Given the description of an element on the screen output the (x, y) to click on. 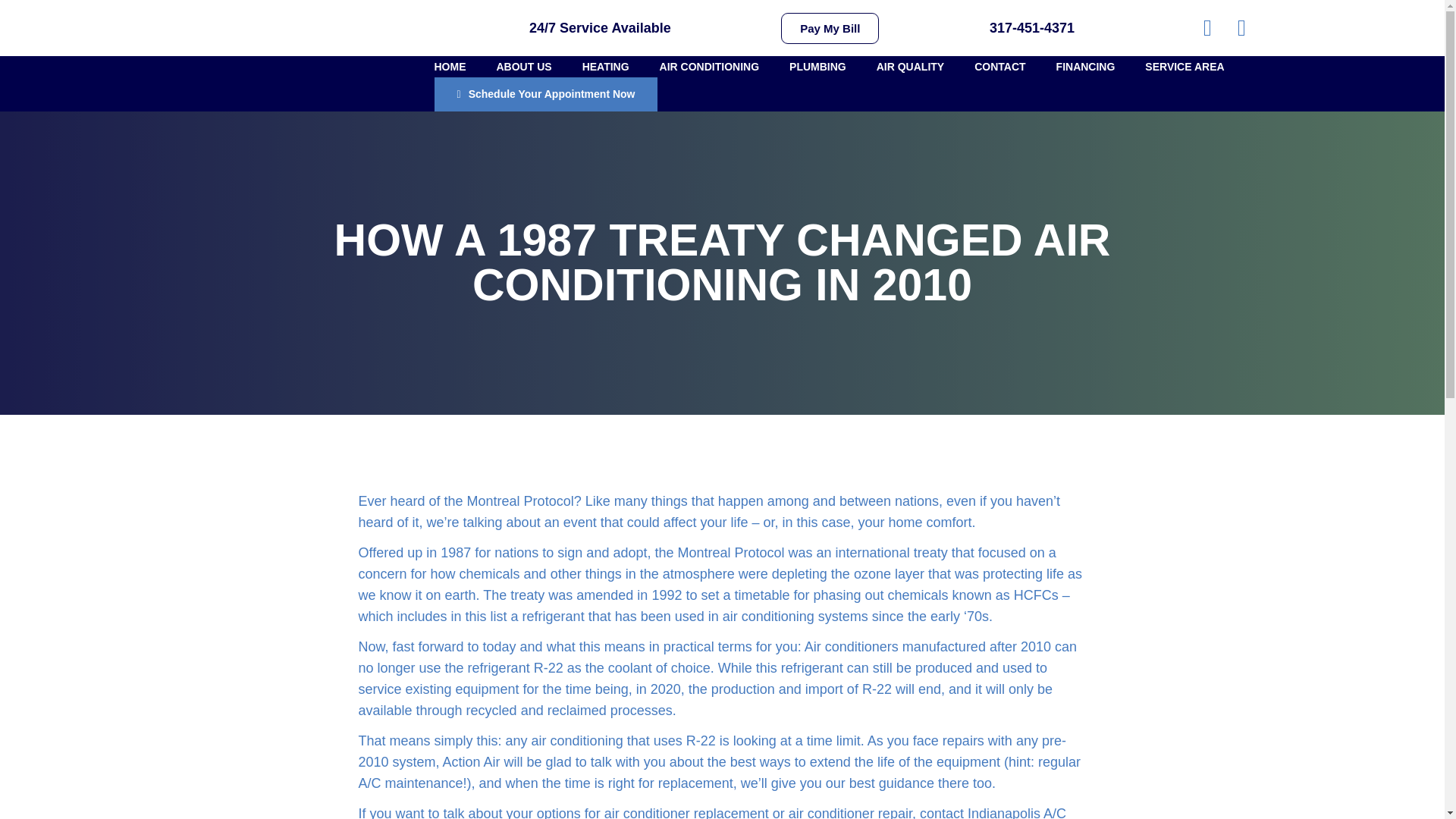
AIR QUALITY (909, 66)
ABOUT US (523, 66)
Pay My Bill (829, 27)
CONTACT (999, 66)
HOME (449, 66)
FINANCING (1086, 66)
AIR CONDITIONING (708, 66)
PLUMBING (817, 66)
SERVICE AREA (1184, 66)
HEATING (605, 66)
